Given the description of an element on the screen output the (x, y) to click on. 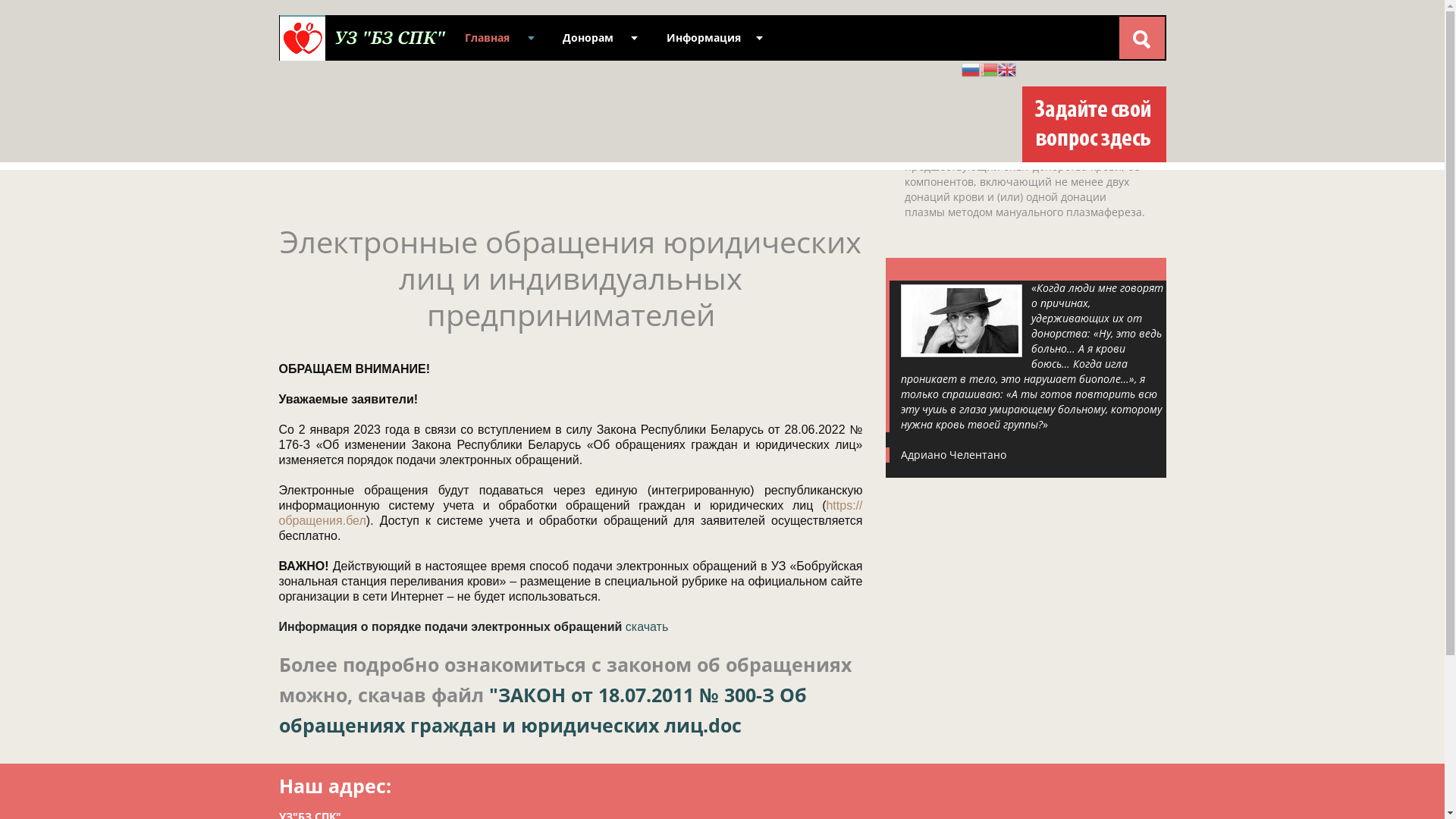
Belarusian Element type: hover (988, 68)
Russian Element type: hover (970, 68)
English Element type: hover (1006, 68)
